Given the description of an element on the screen output the (x, y) to click on. 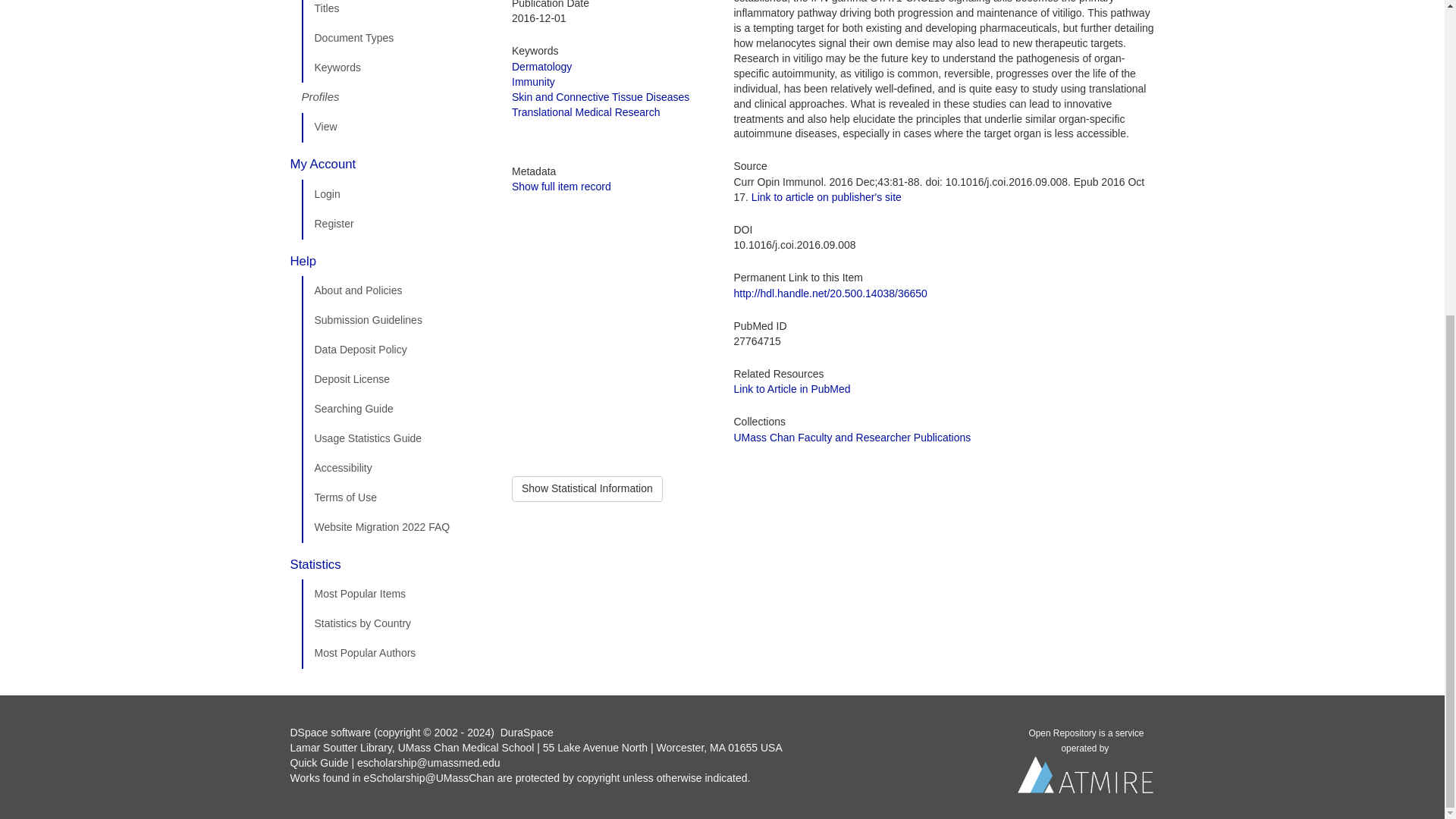
Accessibility (395, 468)
Register (395, 224)
Searching Guide (395, 409)
Titles (395, 12)
Deposit License (395, 379)
Keywords (395, 68)
Submission Guidelines (395, 320)
Terms of Use (395, 498)
Usage Statistics Guide (395, 439)
View (395, 127)
